Given the description of an element on the screen output the (x, y) to click on. 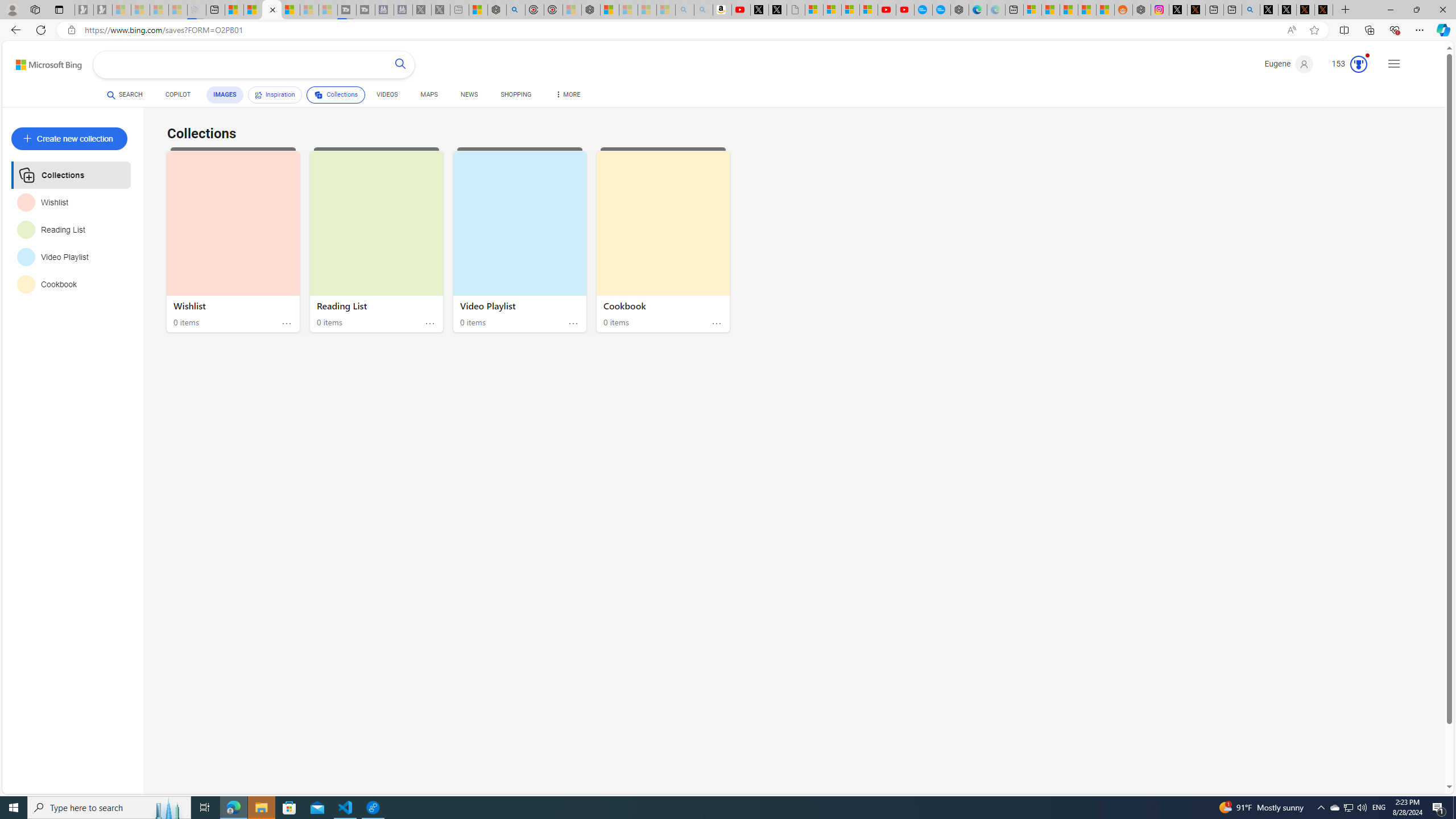
Amazon Echo Dot PNG - Search Images - Sleeping (702, 9)
Settings and quick links (1394, 63)
